Given the description of an element on the screen output the (x, y) to click on. 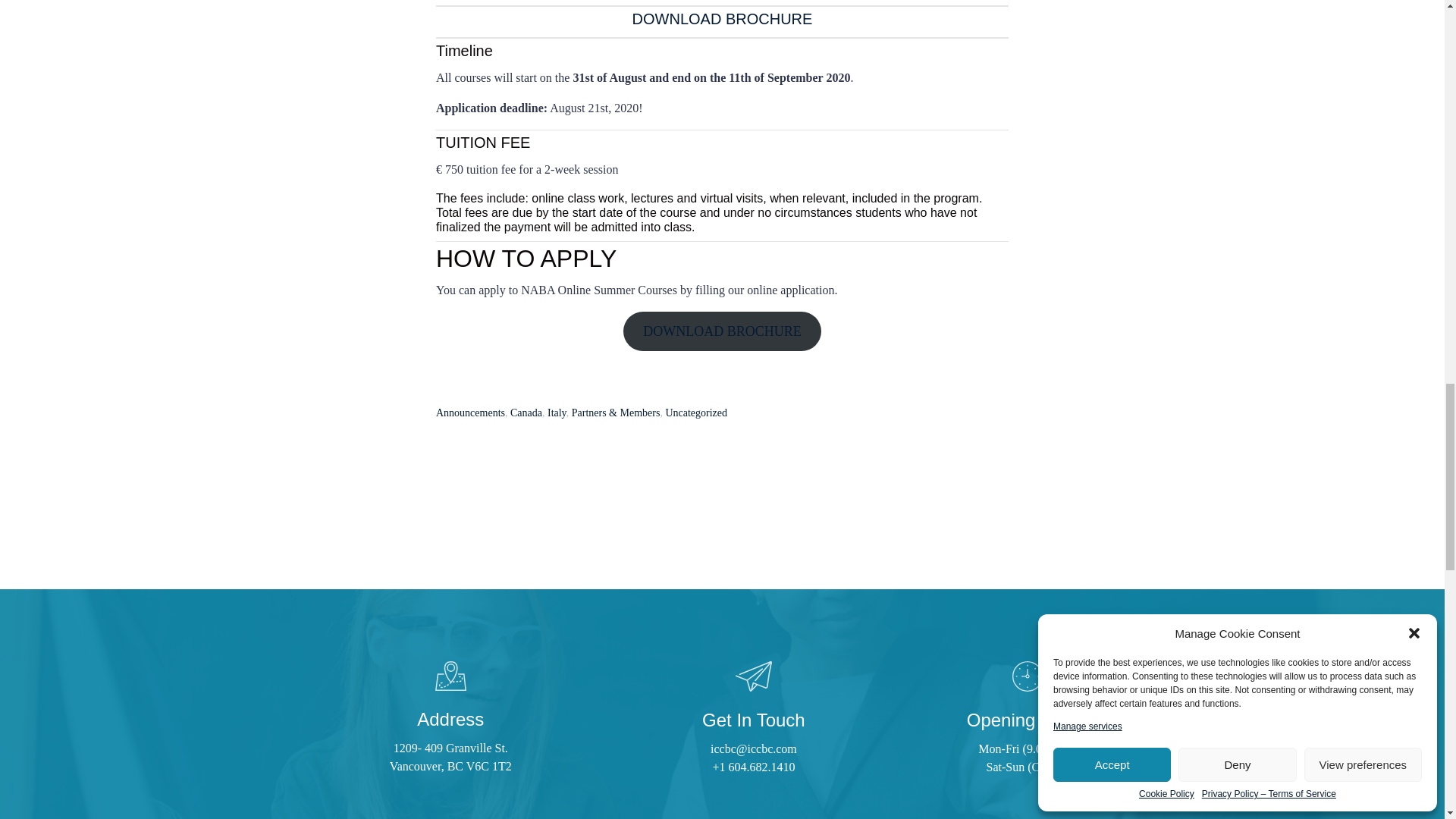
Page 7 (722, 290)
Page 7 (722, 141)
Page 7 (722, 270)
Page 4 (722, 58)
Page 7 (722, 200)
Page 1 (722, 214)
